Given the description of an element on the screen output the (x, y) to click on. 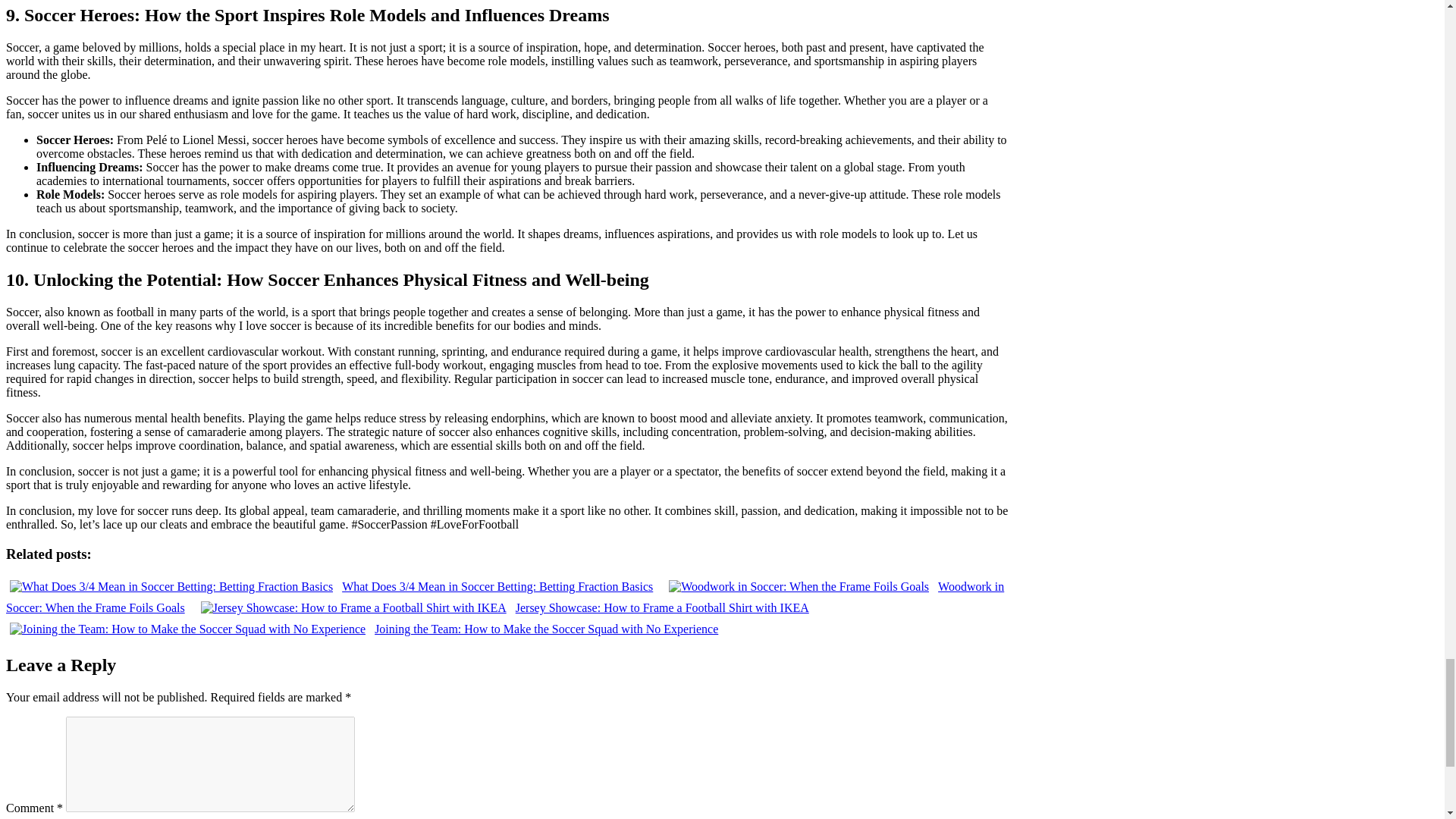
Jersey Showcase: How to Frame a Football Shirt with IKEA (504, 607)
Jersey Showcase: How to Frame a Football Shirt with IKEA (504, 607)
Woodwork in Soccer: When the Frame Foils Goals (504, 596)
Woodwork in Soccer: When the Frame Foils Goals (504, 596)
